Given the description of an element on the screen output the (x, y) to click on. 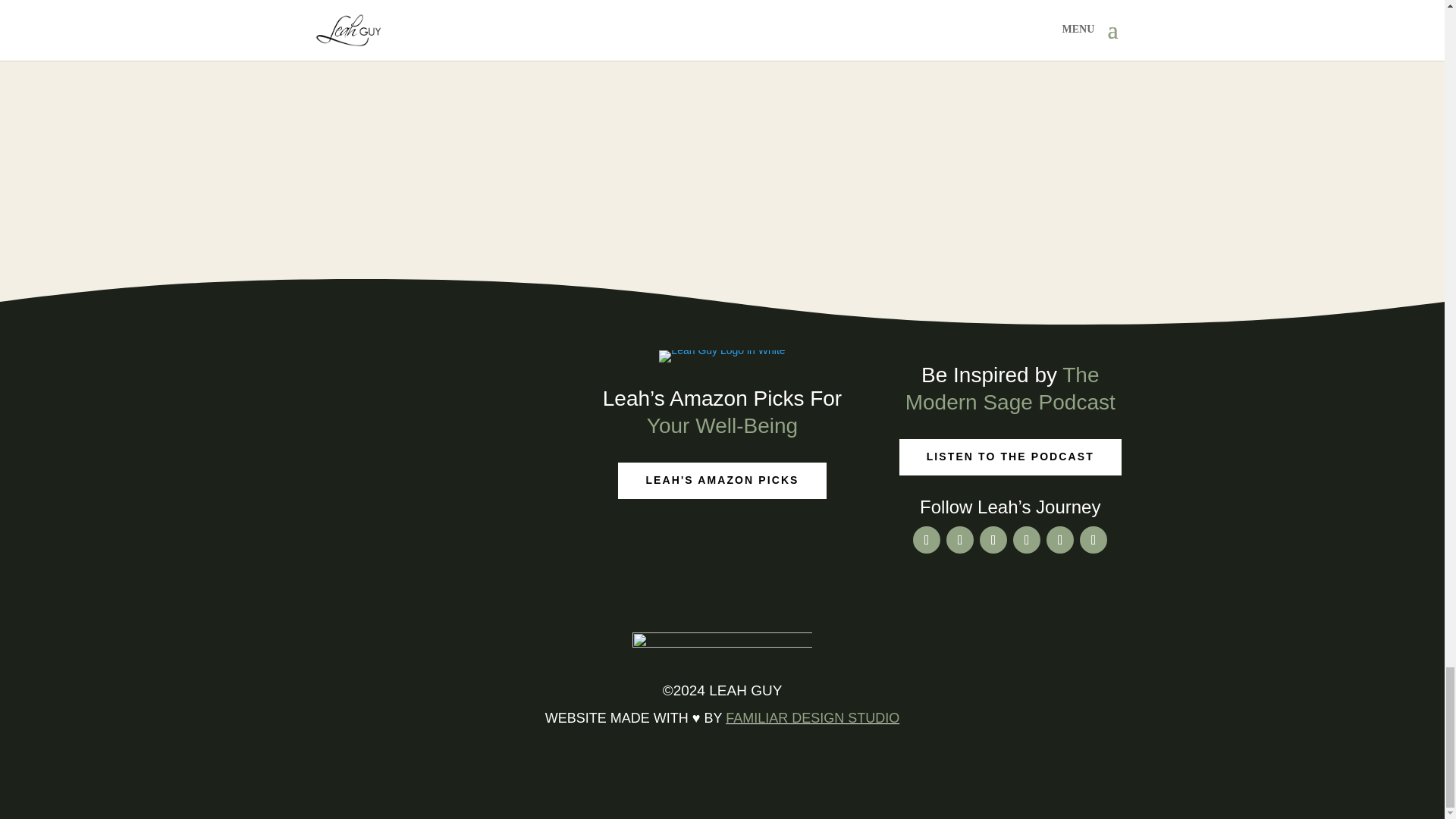
Moon Icons (721, 645)
Follow on Youtube (960, 539)
Follow on LinkedIn (1027, 539)
Follow on Instagram (1060, 539)
Follow on Patreon (993, 539)
Leah Guy Logo in White (721, 356)
Follow on TikTok (1093, 539)
Follow on Facebook (926, 539)
